Given the description of an element on the screen output the (x, y) to click on. 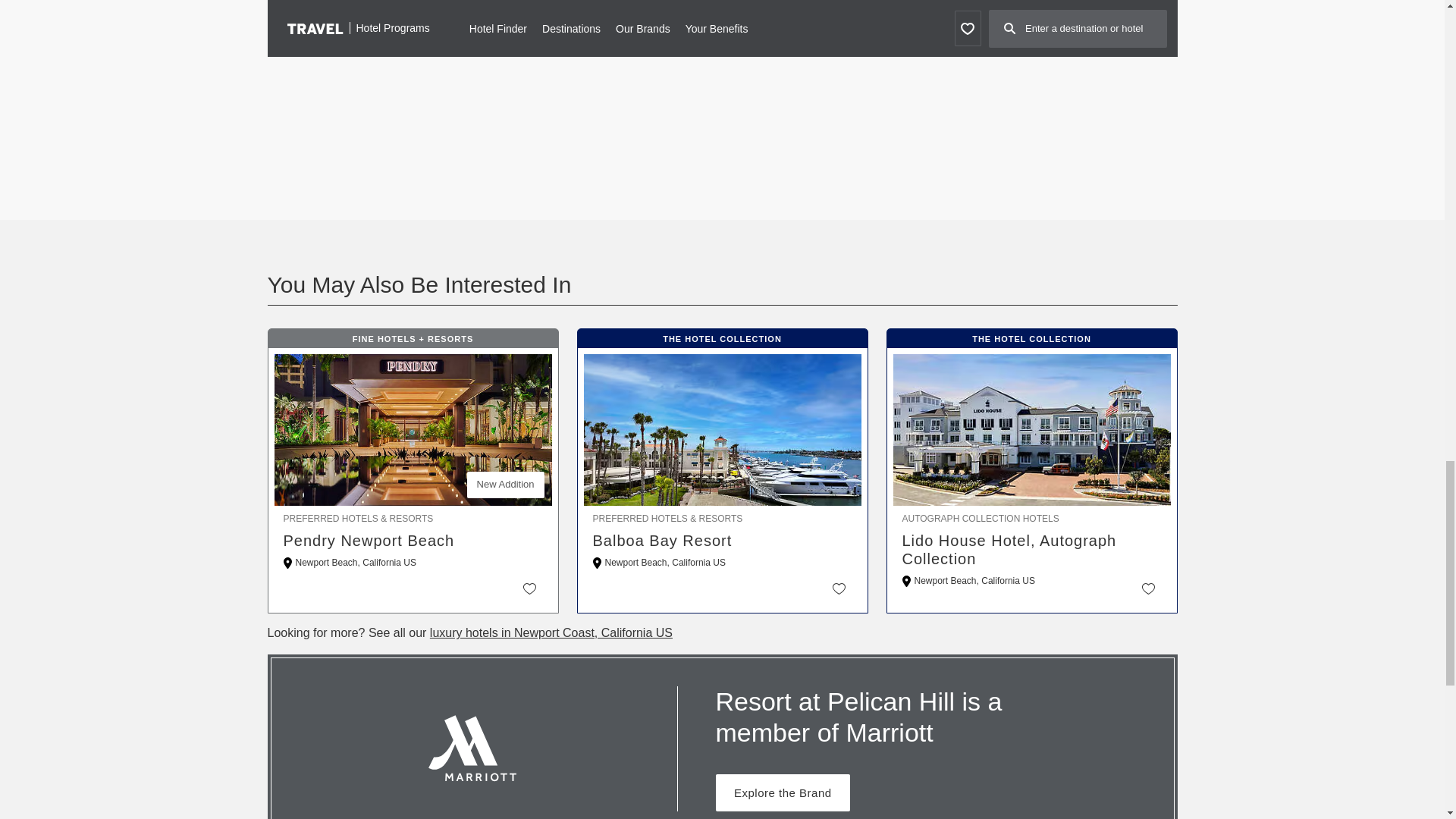
Explore the Brand (783, 792)
Lido House Hotel, Autograph Collection (1031, 549)
Balboa Bay Resort (721, 540)
Pendry Newport Beach (413, 540)
luxury hotels in Newport Coast, California US (550, 632)
